Given the description of an element on the screen output the (x, y) to click on. 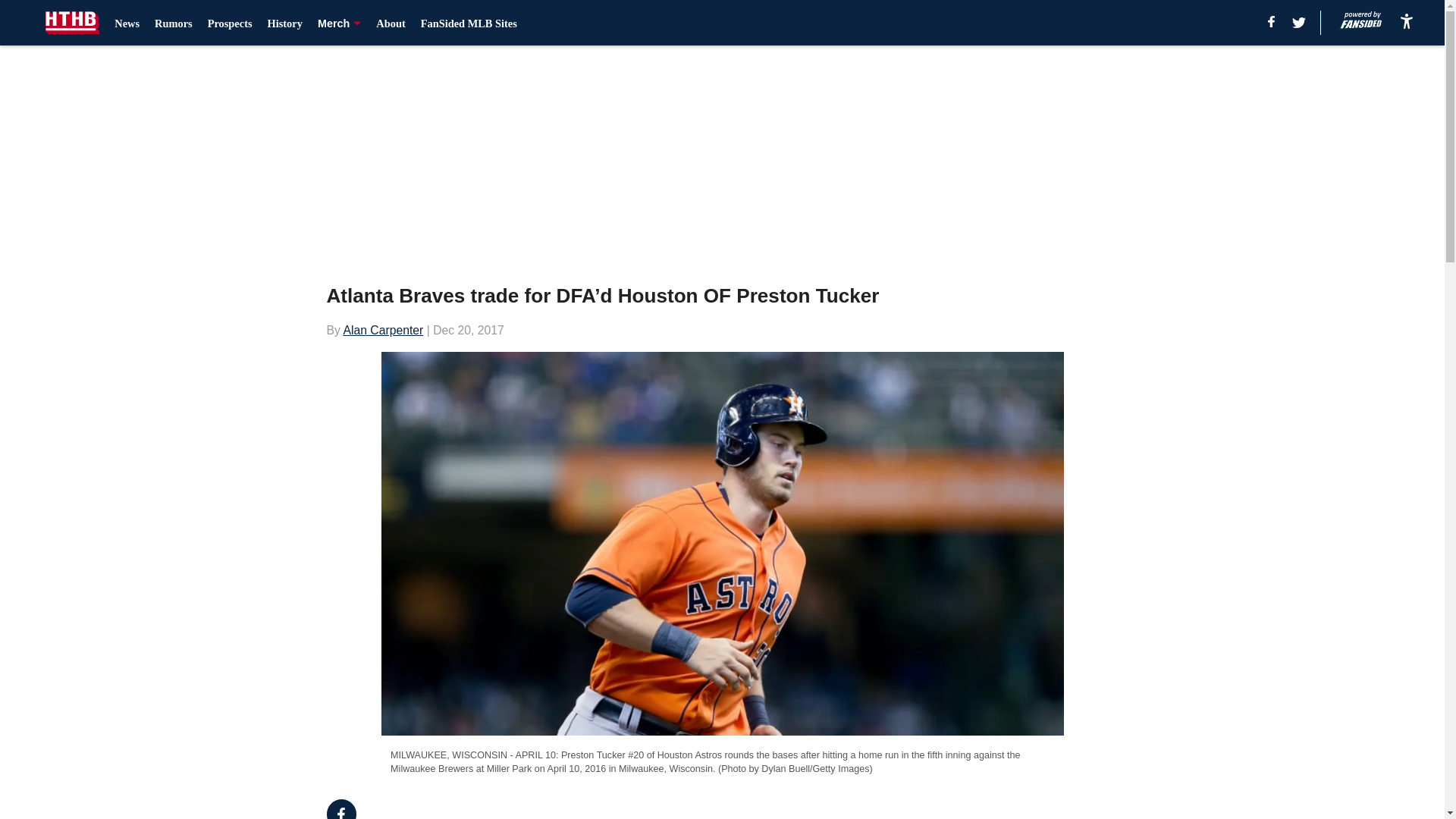
News (127, 23)
History (284, 23)
FanSided MLB Sites (468, 23)
Alan Carpenter (382, 329)
Rumors (173, 23)
Prospects (229, 23)
About (389, 23)
